Given the description of an element on the screen output the (x, y) to click on. 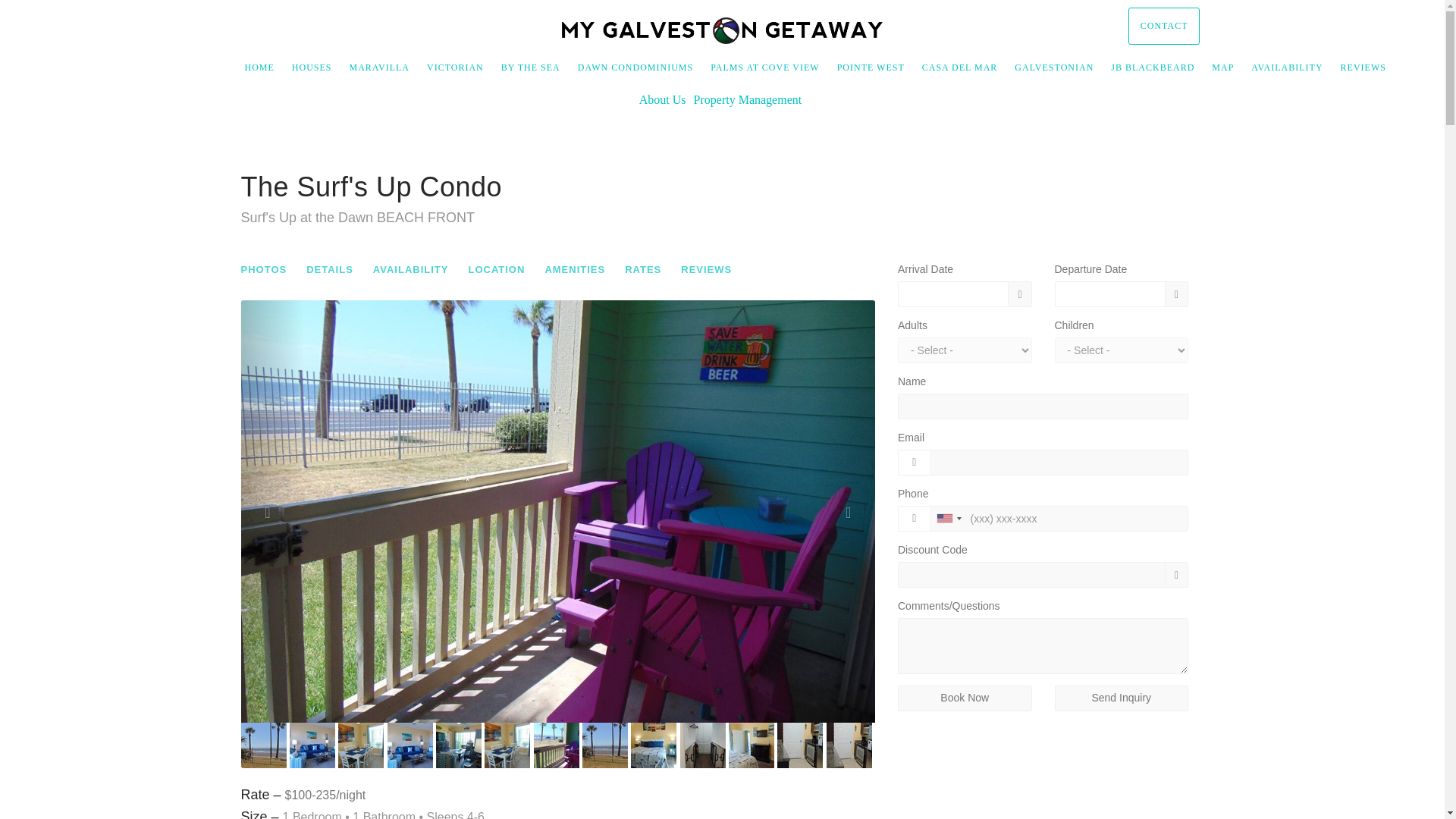
AVAILABILITY (1286, 67)
POINTE WEST (870, 67)
MARAVILLA (379, 67)
PALMS AT COVE VIEW (764, 67)
DAWN CONDOMINIUMS (635, 67)
REVIEWS (1363, 67)
HOME (258, 67)
Property Management (748, 99)
BY THE SEA (530, 67)
My Galveston Getaway (722, 30)
GALVESTONIAN (1053, 67)
JB BLACKBEARD (1151, 67)
About Us (662, 99)
CASA DEL MAR (959, 67)
CONTACT (1163, 26)
